Given the description of an element on the screen output the (x, y) to click on. 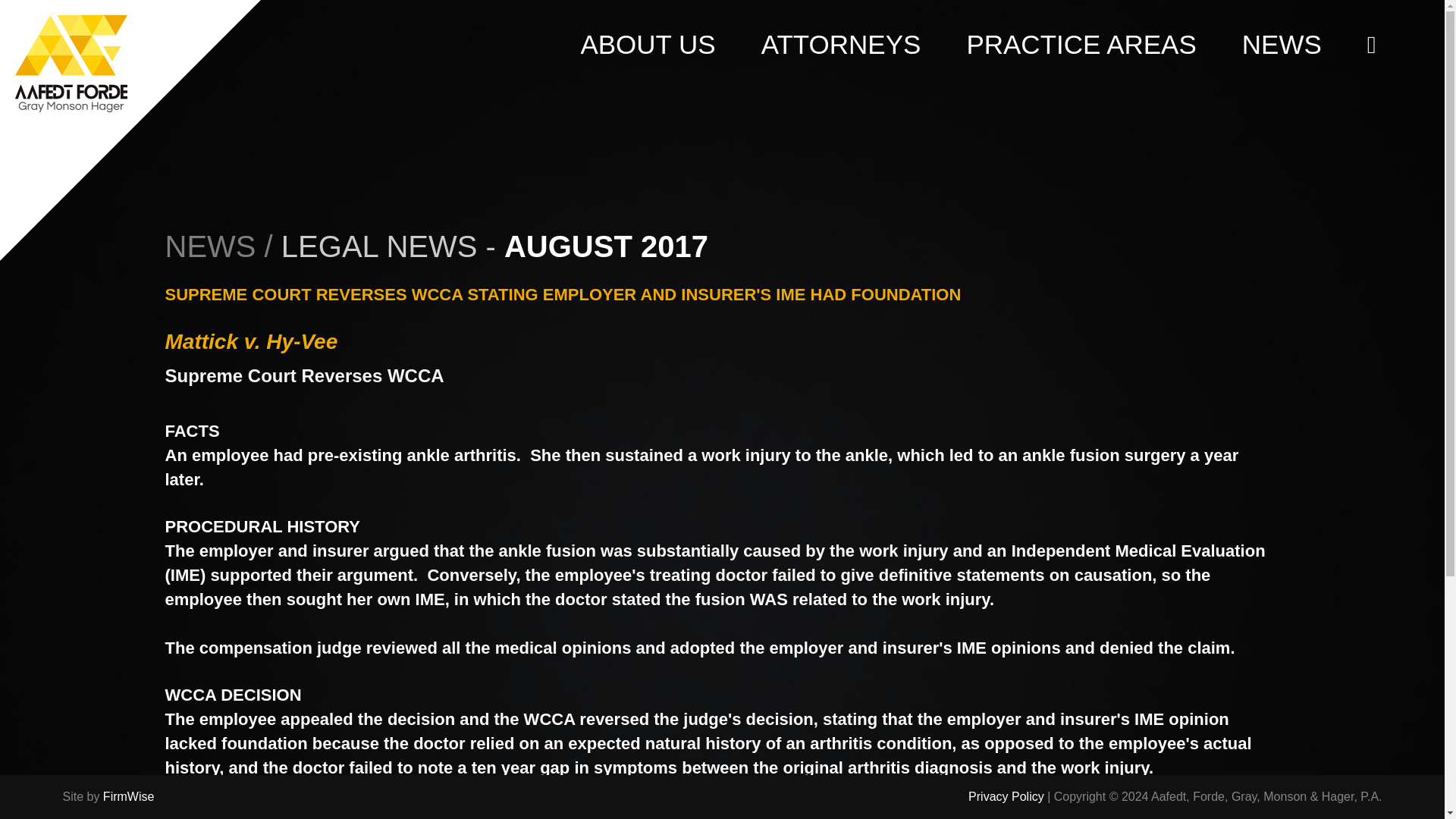
ABOUT US (646, 37)
Mattick v. Hy-Vee (251, 341)
Privacy Policy (1005, 796)
PRACTICE AREAS (1080, 37)
NEWS (1281, 37)
FirmWise (128, 796)
ATTORNEYS (841, 37)
